Given the description of an element on the screen output the (x, y) to click on. 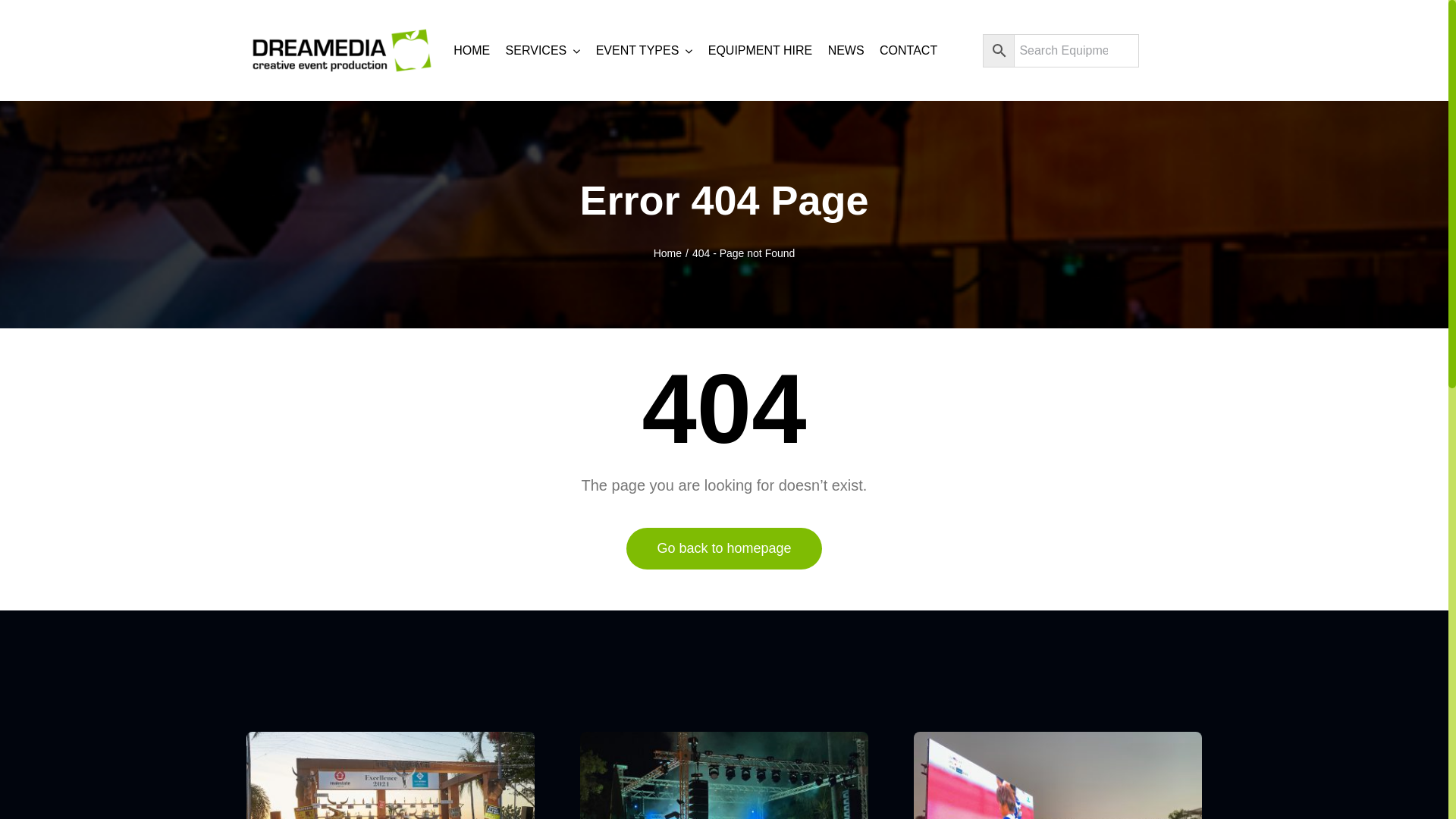
EVENT TYPES Element type: text (644, 49)
CONTACT Element type: text (908, 49)
Home Element type: text (667, 253)
NEWS Element type: text (846, 49)
HOME Element type: text (471, 49)
Go back to homepage Element type: text (723, 548)
EQUIPMENT HIRE Element type: text (760, 49)
SERVICES Element type: text (542, 49)
